Given the description of an element on the screen output the (x, y) to click on. 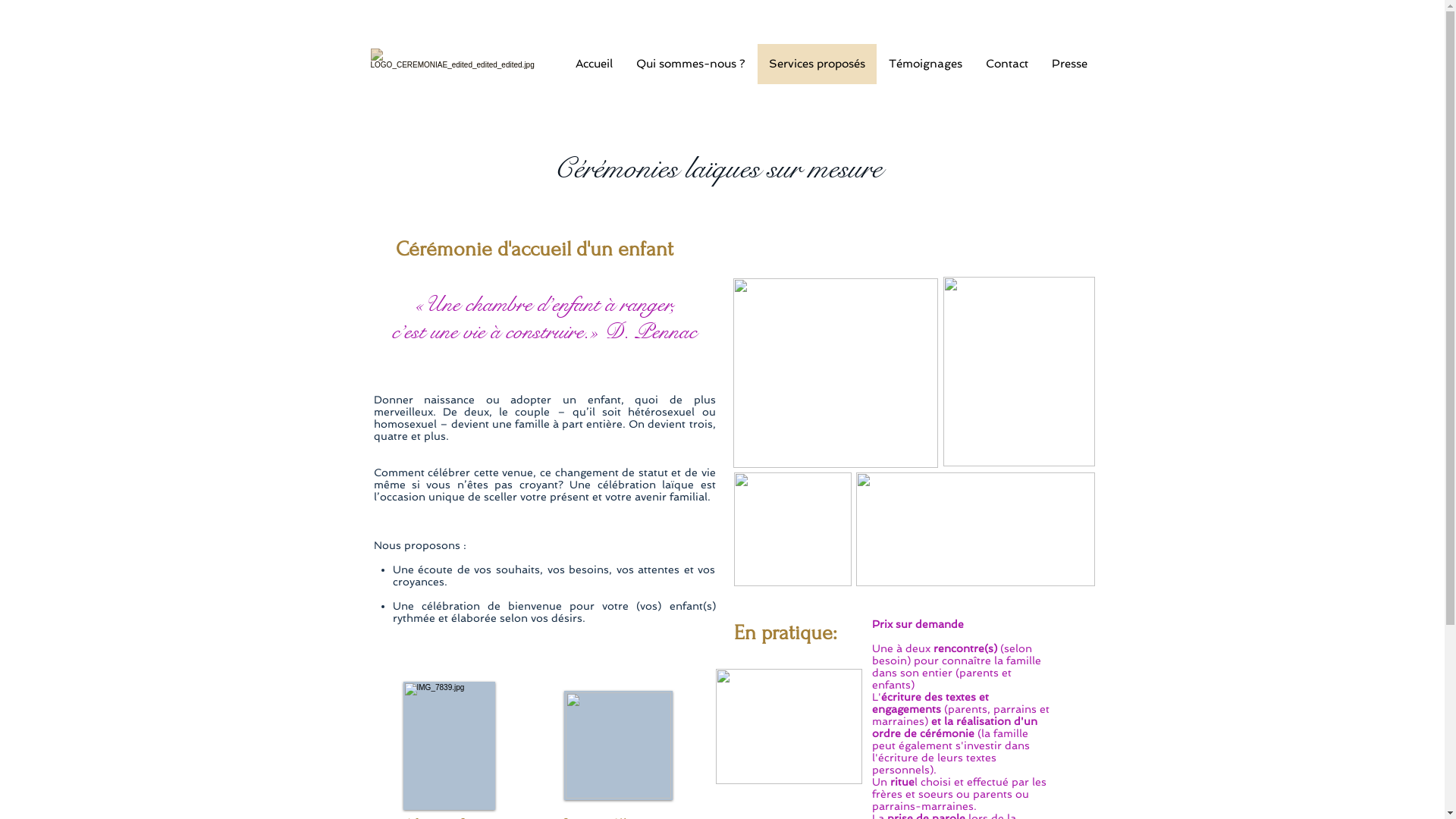
Contact Element type: text (1006, 63)
Qui sommes-nous ? Element type: text (689, 63)
Presse Element type: text (1068, 63)
Accueil Element type: text (592, 63)
Pig Stuffie and Shoes Element type: hover (788, 726)
